Given the description of an element on the screen output the (x, y) to click on. 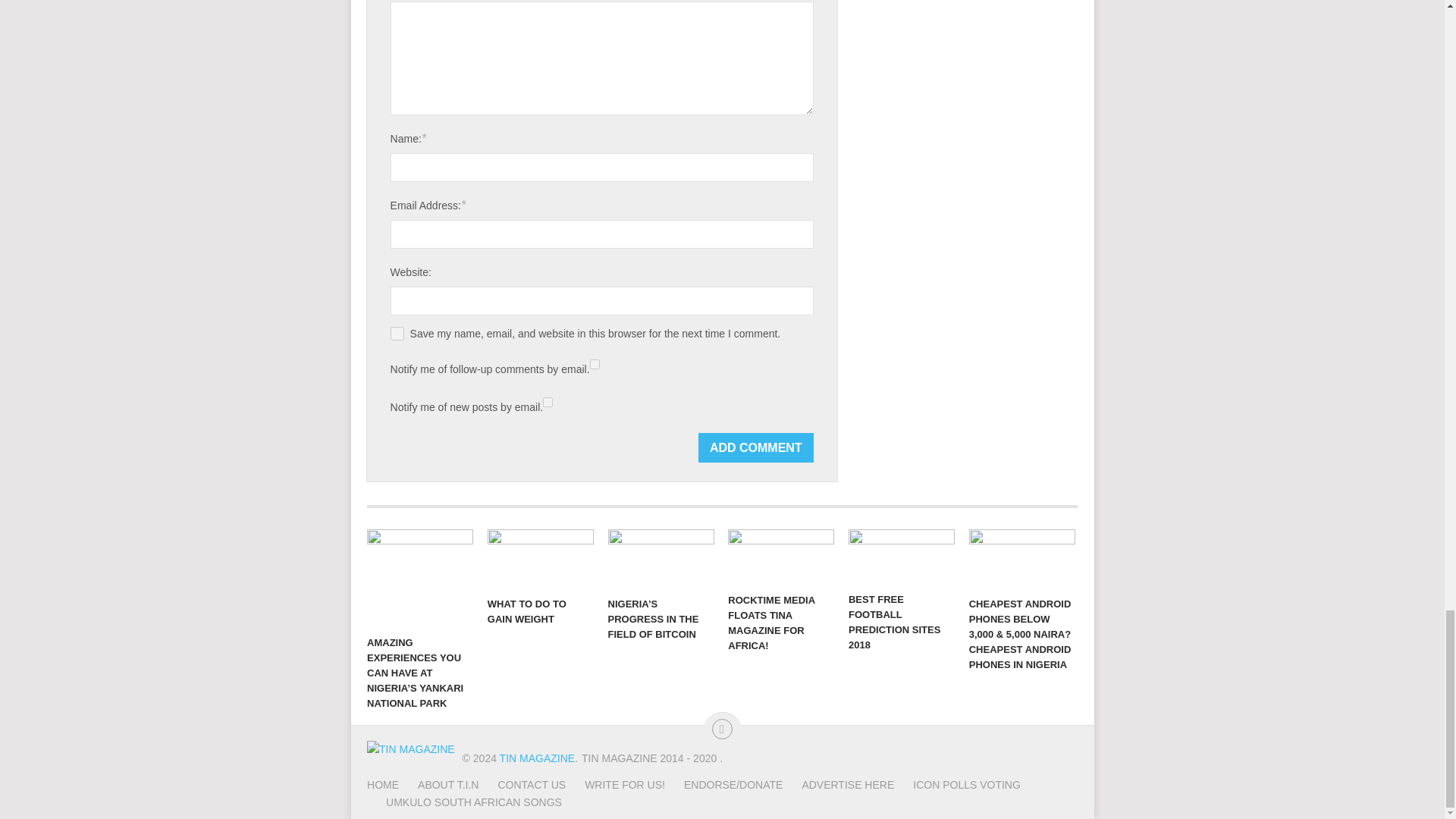
subscribe (594, 364)
subscribe (548, 402)
Add Comment (755, 447)
Add Comment (755, 447)
yes (397, 333)
